Given the description of an element on the screen output the (x, y) to click on. 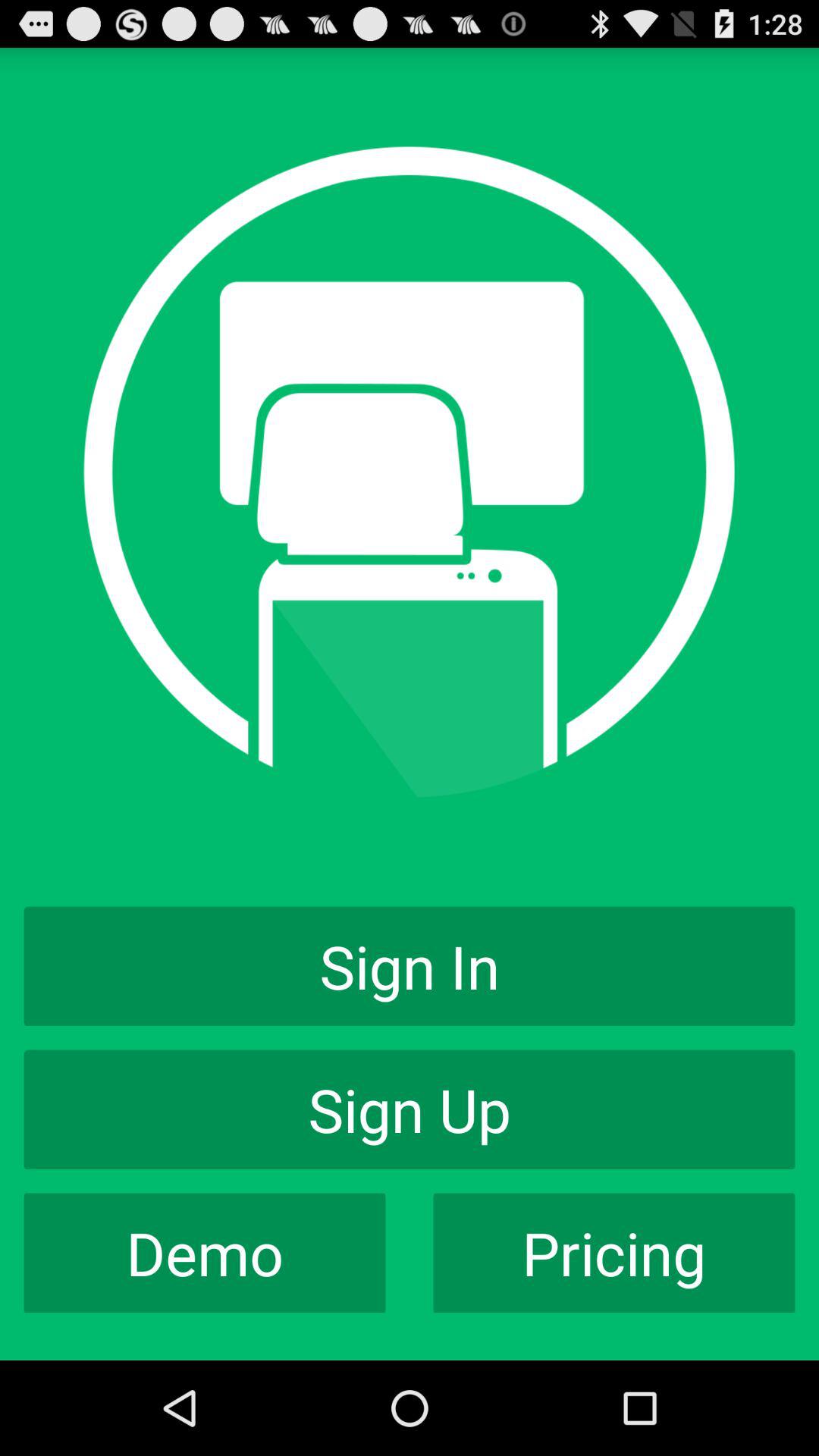
launch pricing app (614, 1252)
